Given the description of an element on the screen output the (x, y) to click on. 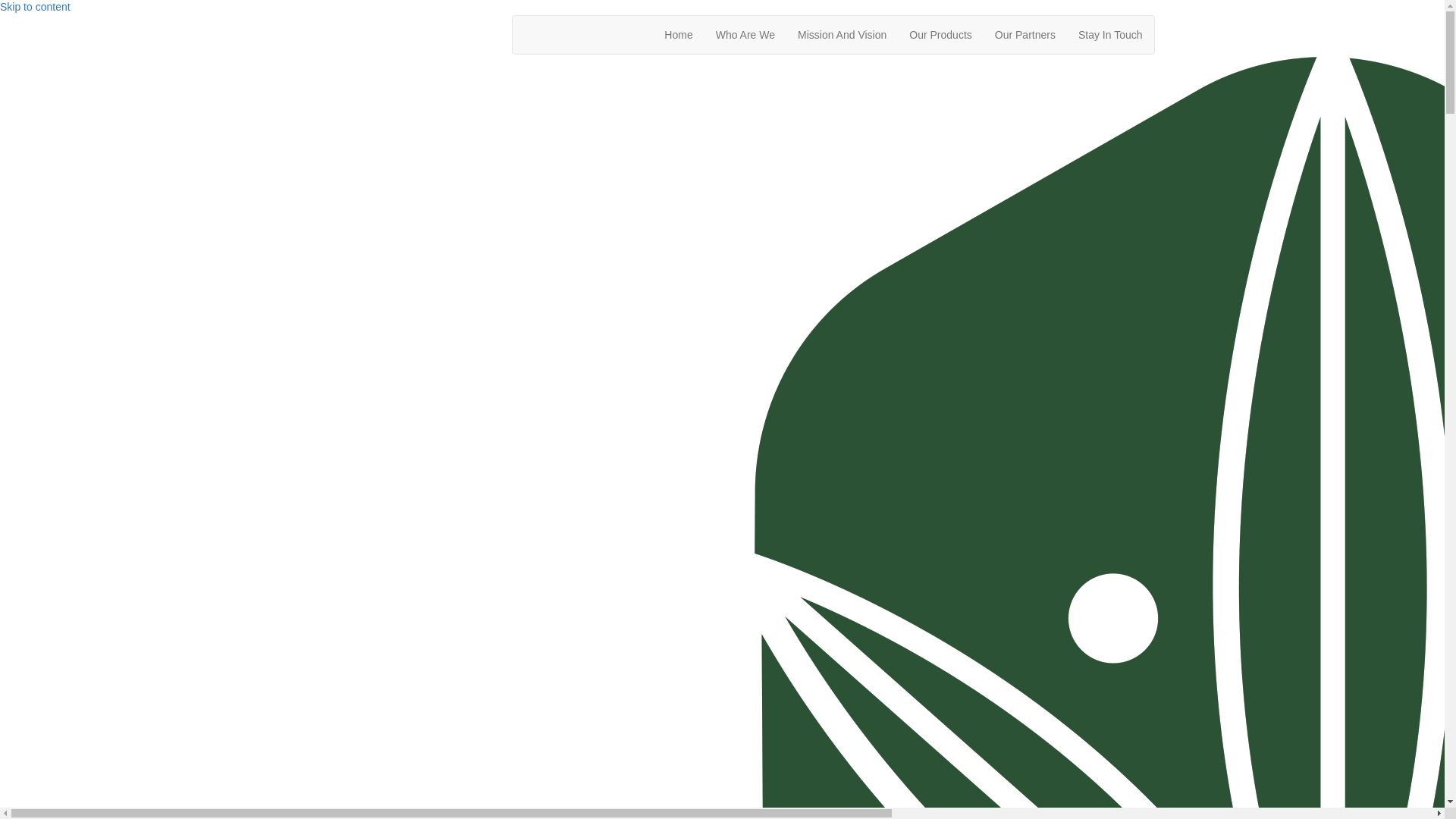
Home (677, 34)
Skip to content (34, 6)
Our Products (940, 34)
Mission And Vision (842, 34)
Our Partners (1025, 34)
Stay In Touch (1110, 34)
Who Are We (745, 34)
